Given the description of an element on the screen output the (x, y) to click on. 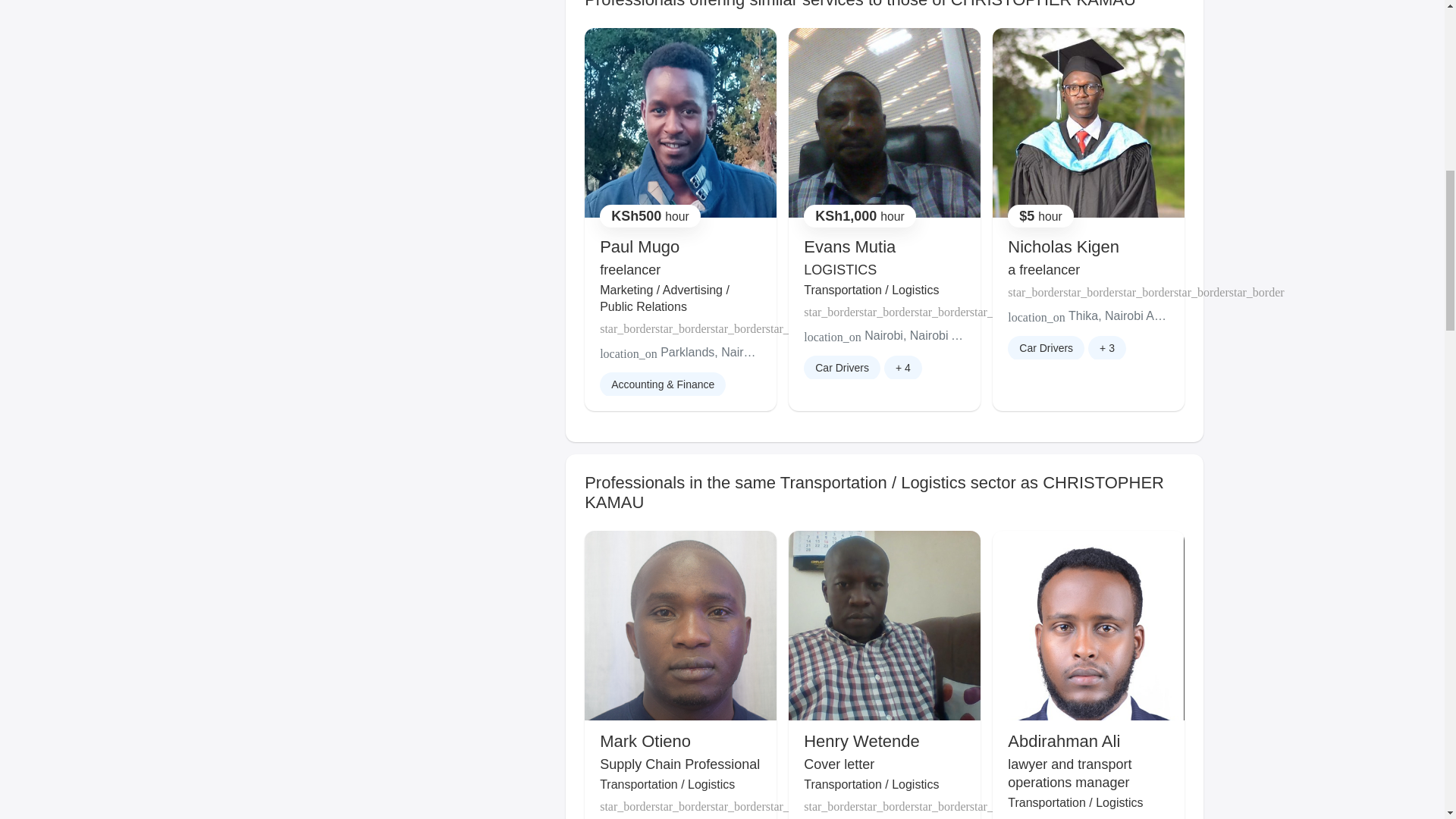
Henry Wetende (860, 741)
Nicholas Kigen (1063, 246)
Evans Mutia (849, 246)
Nicholas Kigen (1063, 246)
Mark Otieno (644, 741)
Evans  Mutia  (849, 246)
Paul Mugo (639, 246)
Mark Otieno (644, 741)
Abdirahman Ali (1063, 741)
Henry Wetende (860, 741)
